Given the description of an element on the screen output the (x, y) to click on. 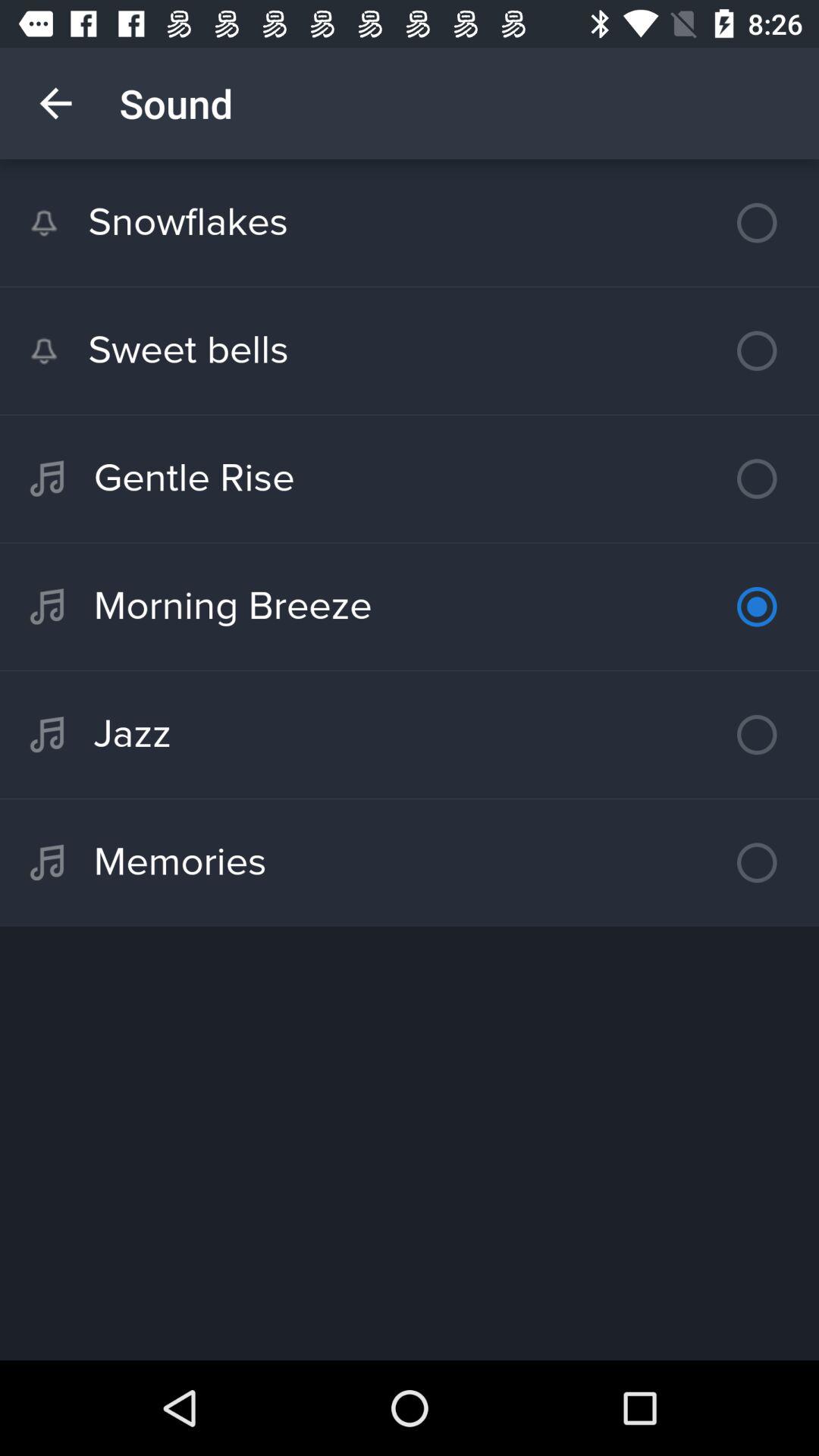
turn on the memories item (409, 862)
